Given the description of an element on the screen output the (x, y) to click on. 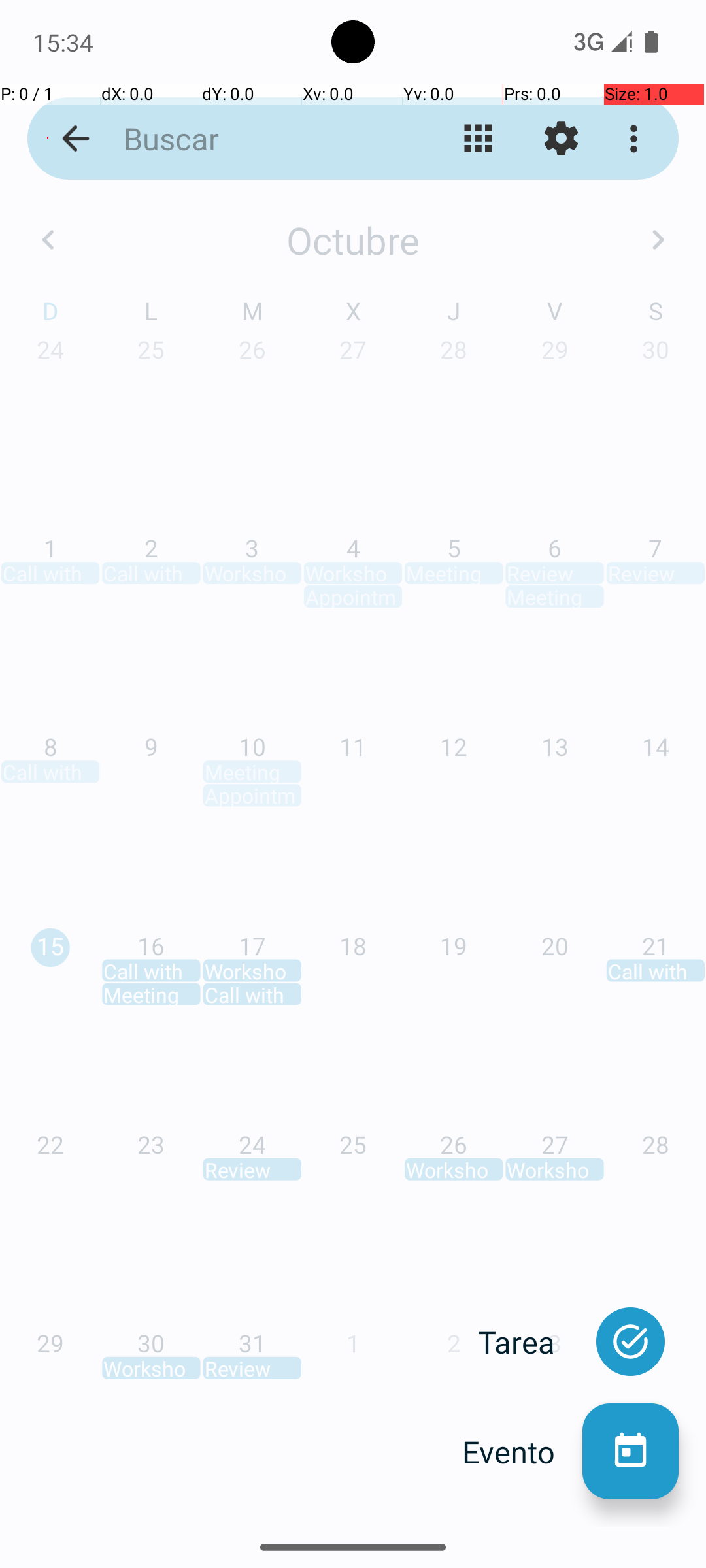
Tarea Element type: android.widget.TextView (529, 1341)
Evento Element type: android.widget.TextView (522, 1451)
